Given the description of an element on the screen output the (x, y) to click on. 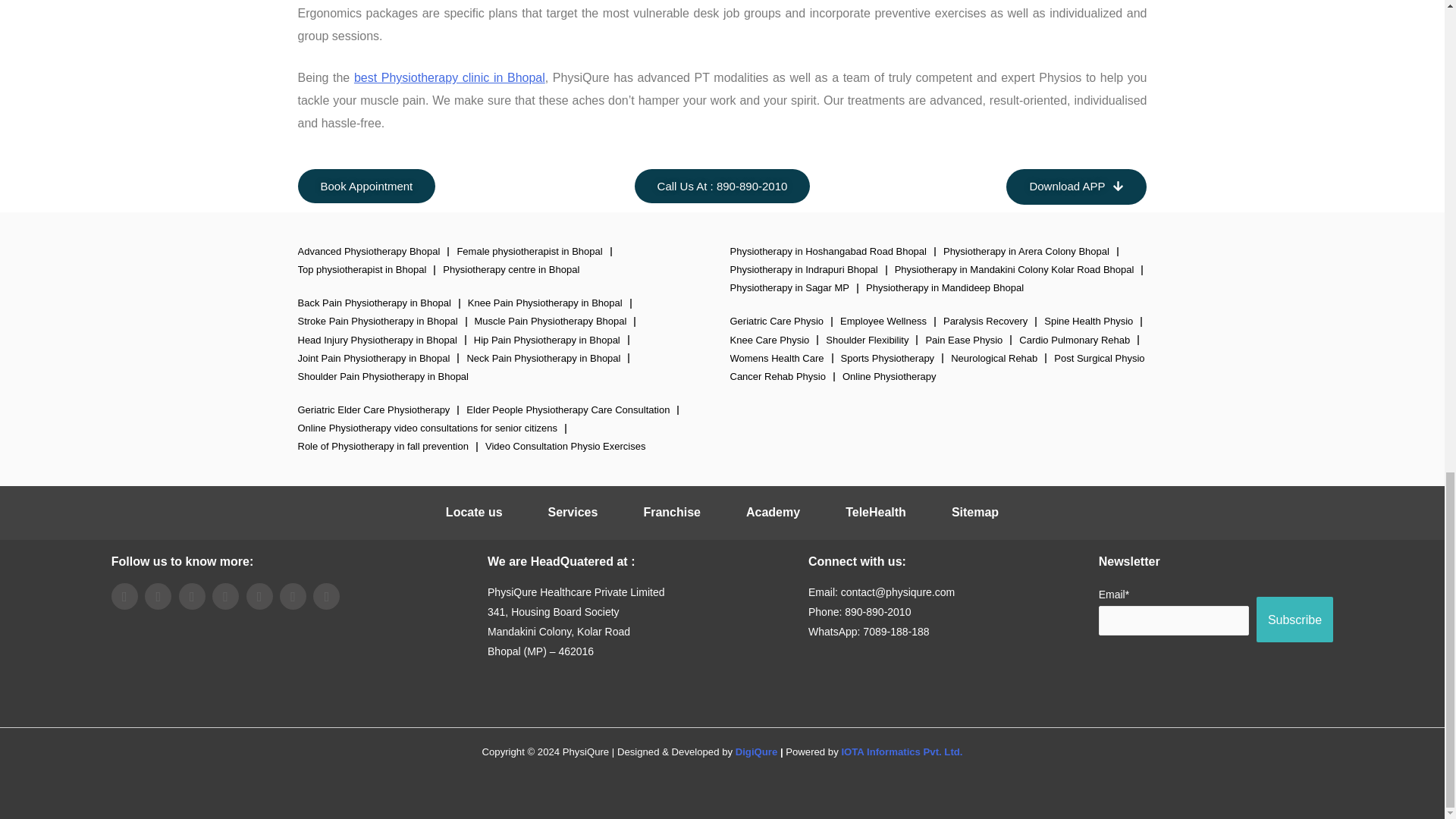
instagram (259, 596)
digiqure.com (756, 751)
facebook (125, 596)
pinterest (292, 596)
iotainformatics (901, 751)
twitter (157, 596)
youtube (225, 596)
Subscribe (1294, 619)
quora (326, 596)
linkedin (192, 596)
